Given the description of an element on the screen output the (x, y) to click on. 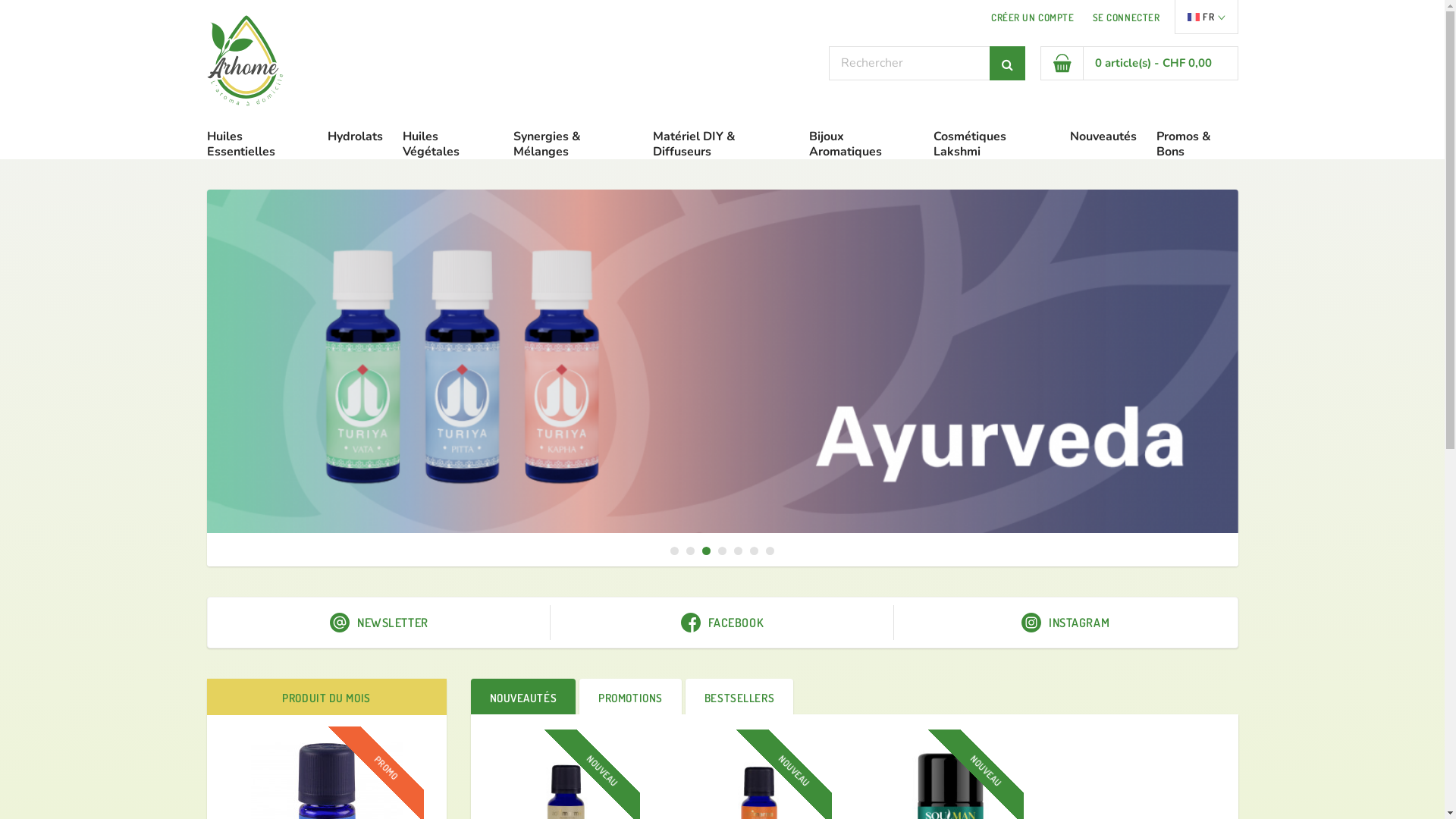
PROMOTIONS Element type: text (630, 696)
BESTSELLERS Element type: text (739, 696)
Huiles Essentielles Element type: text (256, 143)
FACEBOOK Element type: text (722, 622)
Hydrolats Element type: text (354, 136)
INSTAGRAM Element type: text (1065, 622)
SE CONNECTER Element type: text (1126, 17)
Promos & Bons Element type: text (1196, 143)
NEWSLETTER Element type: text (379, 622)
0 article(s) - CHF 0,00 Element type: text (1139, 63)
Bijoux Aromatiques Element type: text (861, 143)
FR Element type: text (1205, 17)
